Given the description of an element on the screen output the (x, y) to click on. 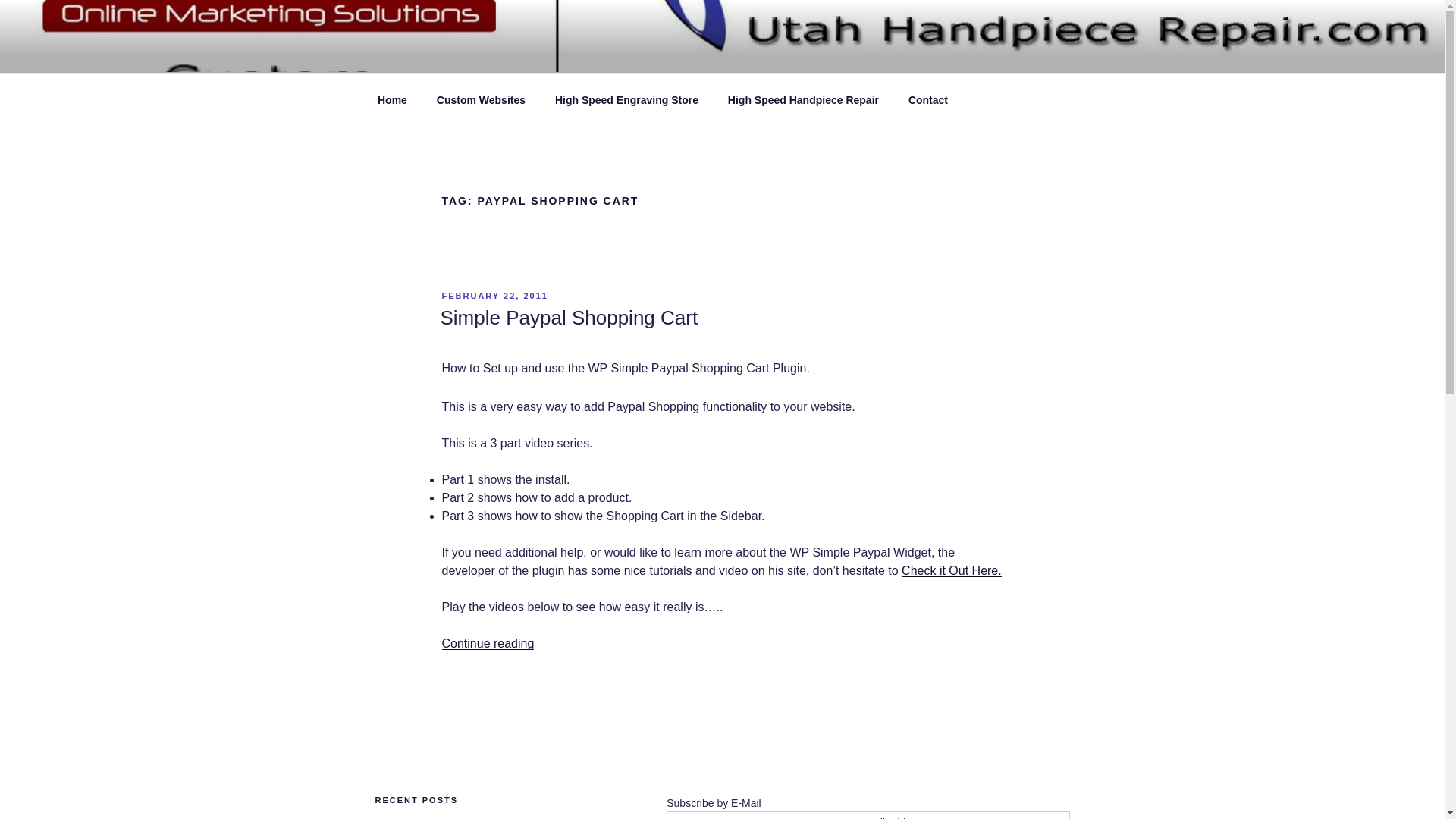
Simple Paypal Shopping Cart (568, 317)
FEBRUARY 22, 2011 (494, 295)
PROFESSIONAL WEB SITES FOR SMALL BUSINESS (683, 70)
Contact (927, 99)
Custom Websites (480, 99)
High Speed Engraving Store (626, 99)
Home (392, 99)
Check it Out Here. (951, 570)
High Speed Handpiece Repair (802, 99)
